Given the description of an element on the screen output the (x, y) to click on. 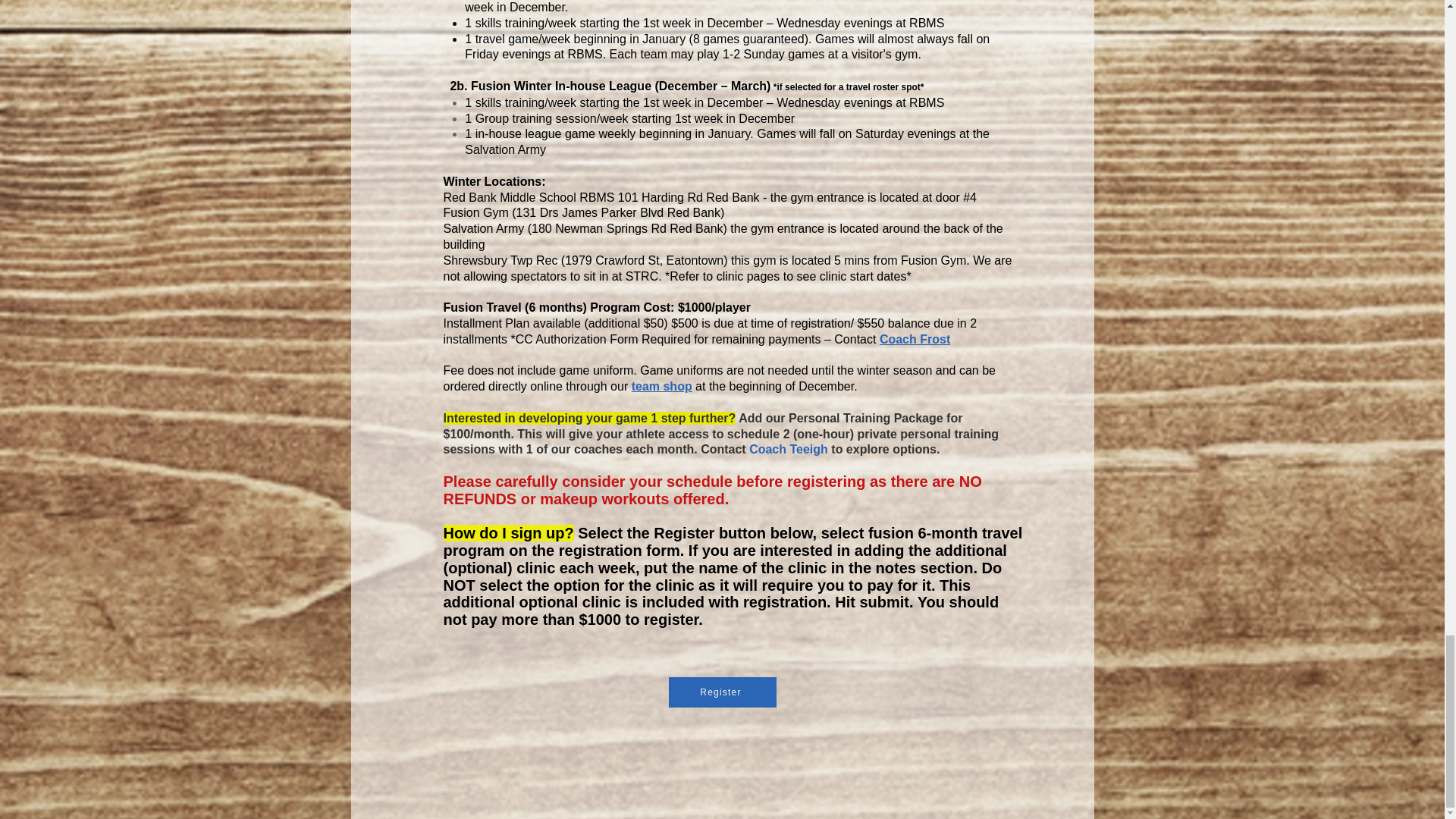
team shop (662, 386)
Coach Frost (914, 338)
Register (722, 692)
